Given the description of an element on the screen output the (x, y) to click on. 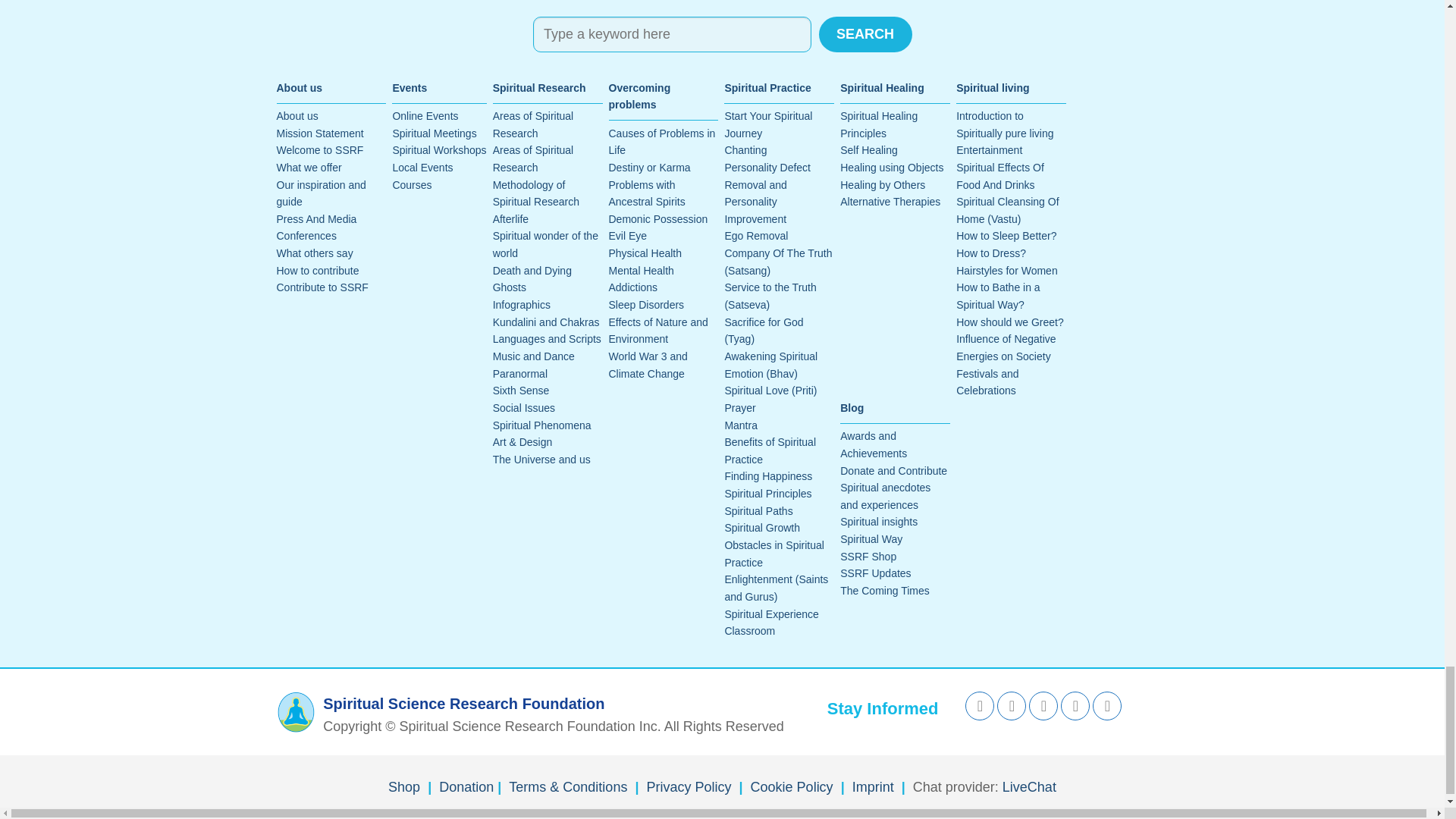
Twitter (1011, 705)
Instagram (1075, 705)
Youtube (1043, 705)
Facebook (979, 705)
Search (865, 34)
Search for: (671, 34)
Search (865, 34)
Pinterest (1107, 705)
